Given the description of an element on the screen output the (x, y) to click on. 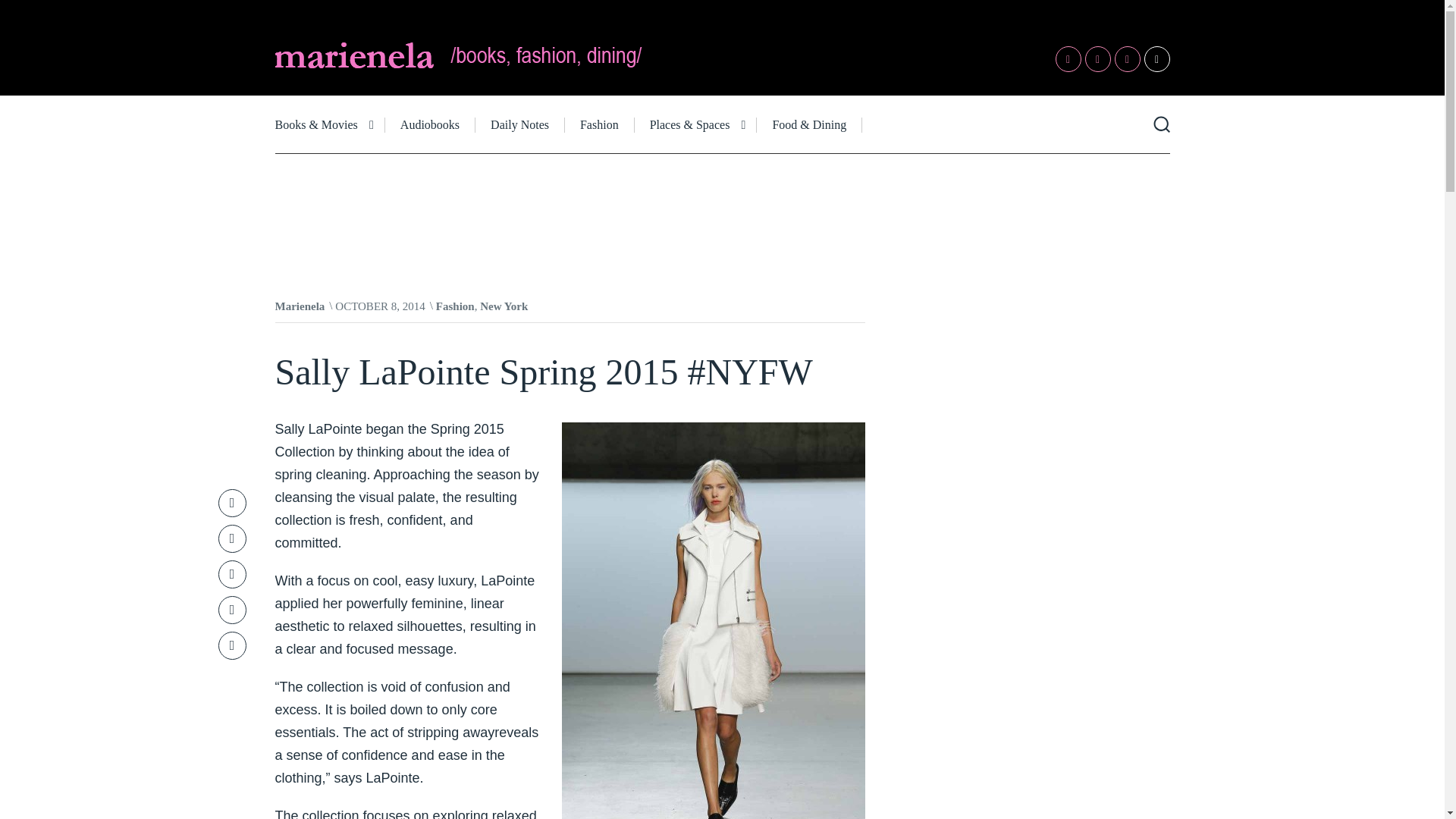
New York (503, 306)
View all posts in Fashion (454, 306)
Daily Notes (520, 124)
View all posts in New York (503, 306)
Posts by Marienela (299, 306)
Fashion (454, 306)
Fashion (599, 124)
Marienela (299, 306)
Audiobooks (430, 124)
